Given the description of an element on the screen output the (x, y) to click on. 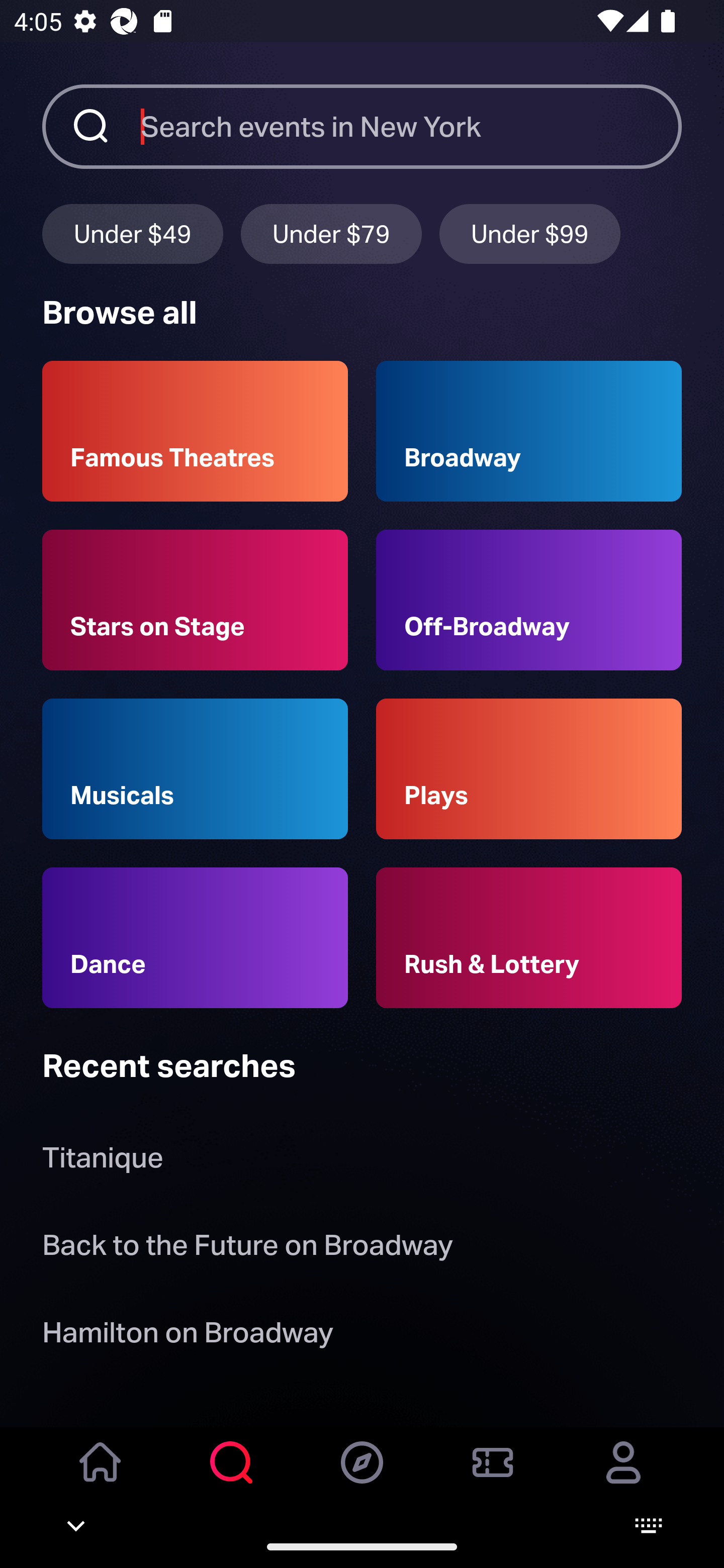
Search events in New York (411, 126)
Under $49 (131, 233)
Under $79 (331, 233)
Under $99 (529, 233)
Famous Theatres (194, 430)
Broadway (528, 430)
Stars on Stage (194, 600)
Off-Broadway (528, 600)
Musicals (194, 768)
Plays (528, 768)
Dance (194, 937)
Rush & Lottery (528, 937)
Titanique (102, 1161)
Back to the Future on Broadway (247, 1248)
Hamilton on Broadway (187, 1335)
Home (100, 1475)
Discover (361, 1475)
Orders (492, 1475)
Account (623, 1475)
